Given the description of an element on the screen output the (x, y) to click on. 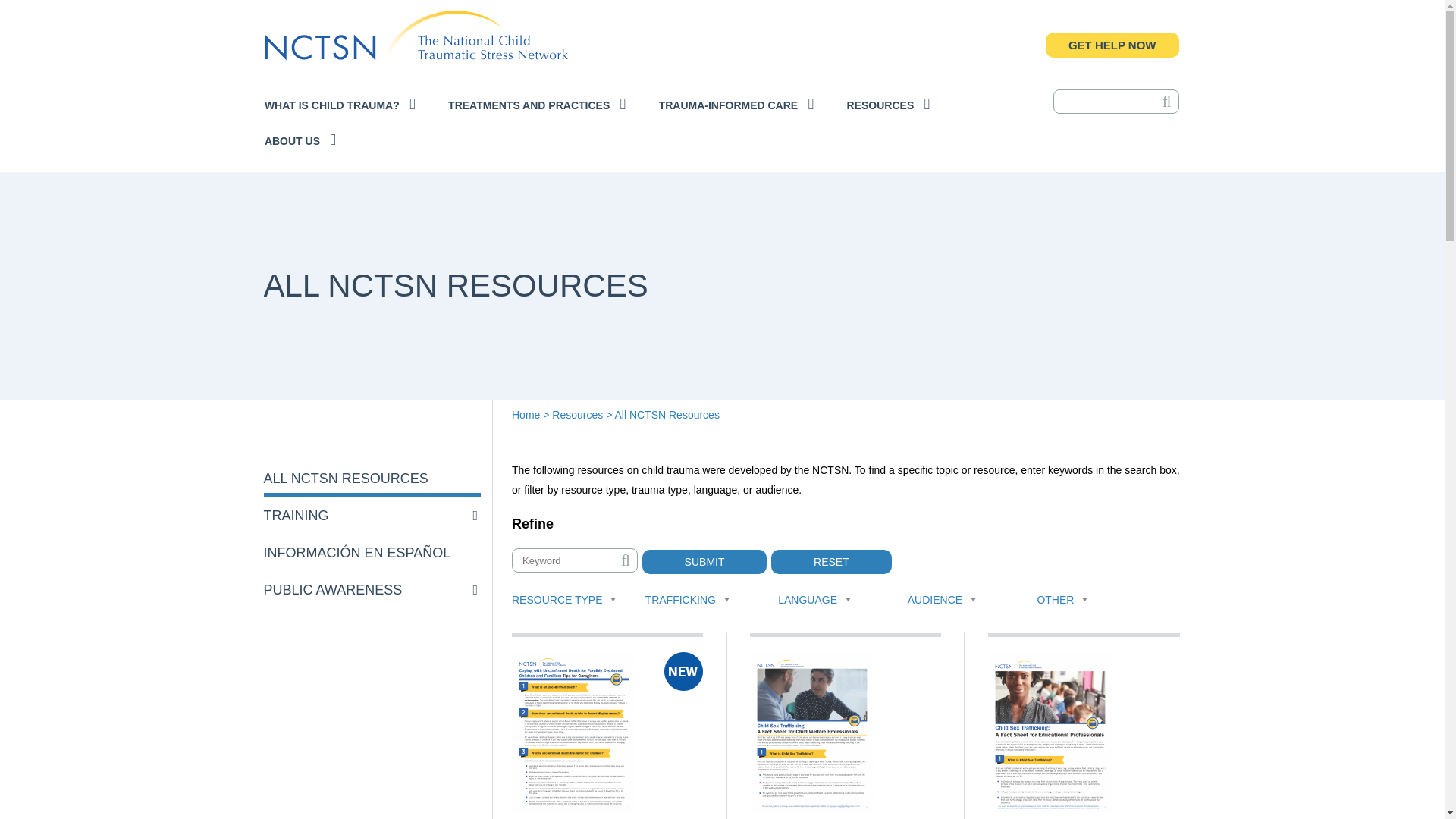
Submit (704, 561)
Reset (831, 561)
Home (415, 42)
